Given the description of an element on the screen output the (x, y) to click on. 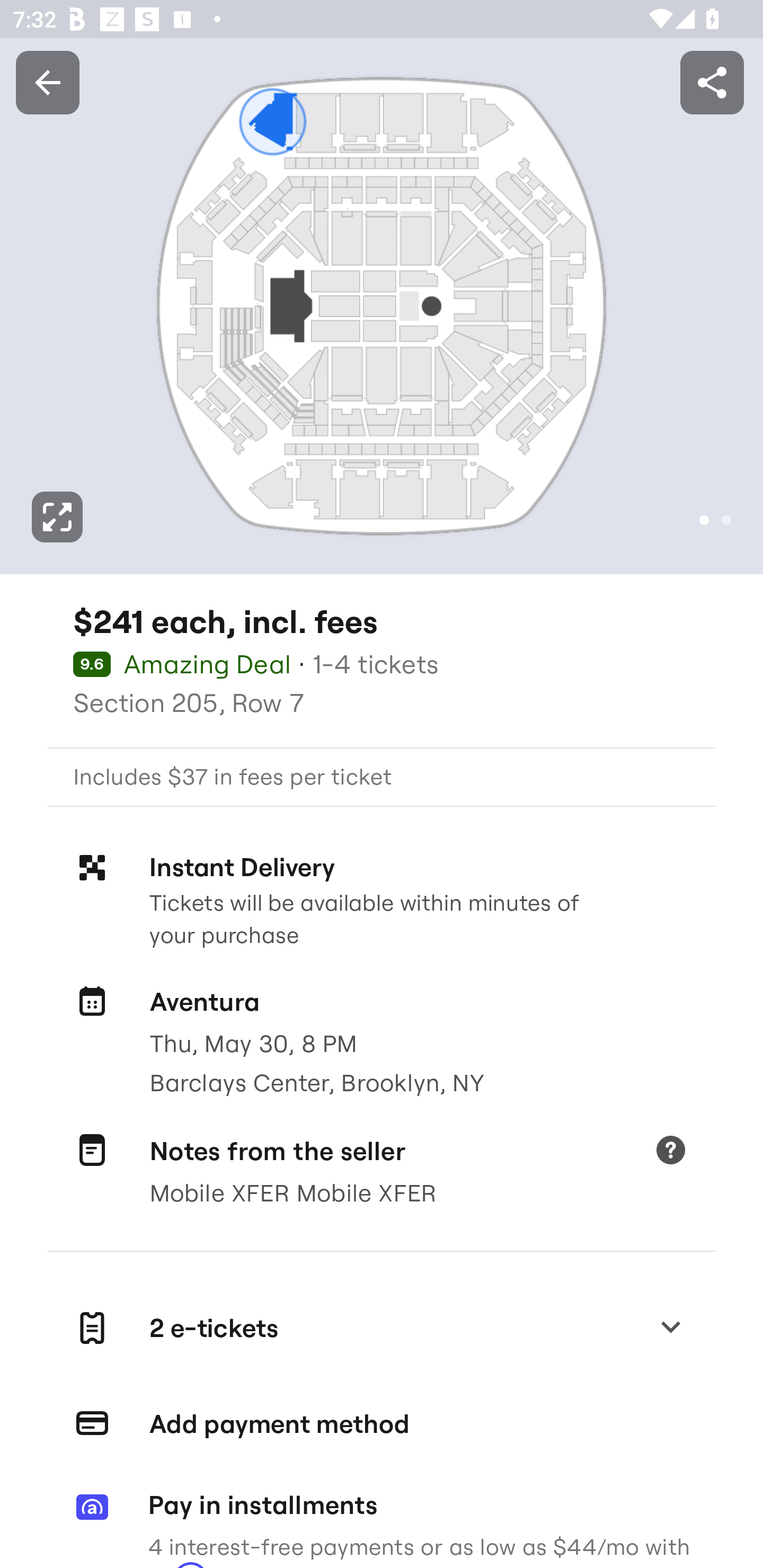
Back (47, 81)
Share (711, 81)
Expand image to fullscreen (57, 517)
Learn more (670, 1151)
2 e-tickets Expand to show options (381, 1328)
Add payment method (381, 1424)
